Given the description of an element on the screen output the (x, y) to click on. 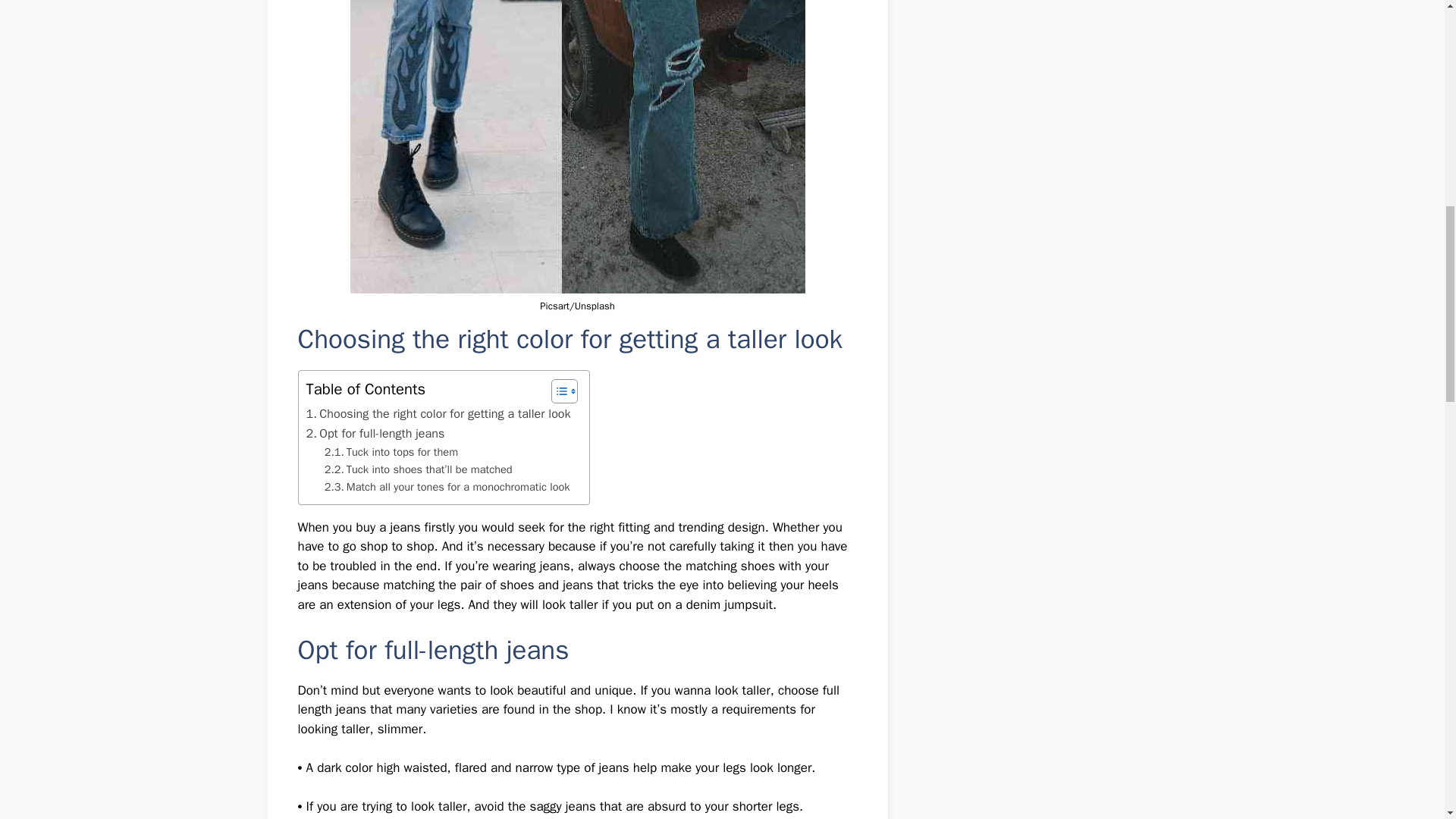
Choosing the right color for getting a taller look  (440, 414)
Opt for full-length jeans (375, 433)
Tuck into tops for them (391, 452)
Scroll back to top (1406, 720)
Tuck into tops for them (391, 452)
Match all your tones for a monochromatic look  (448, 487)
Opt for full-length jeans (375, 433)
